Given the description of an element on the screen output the (x, y) to click on. 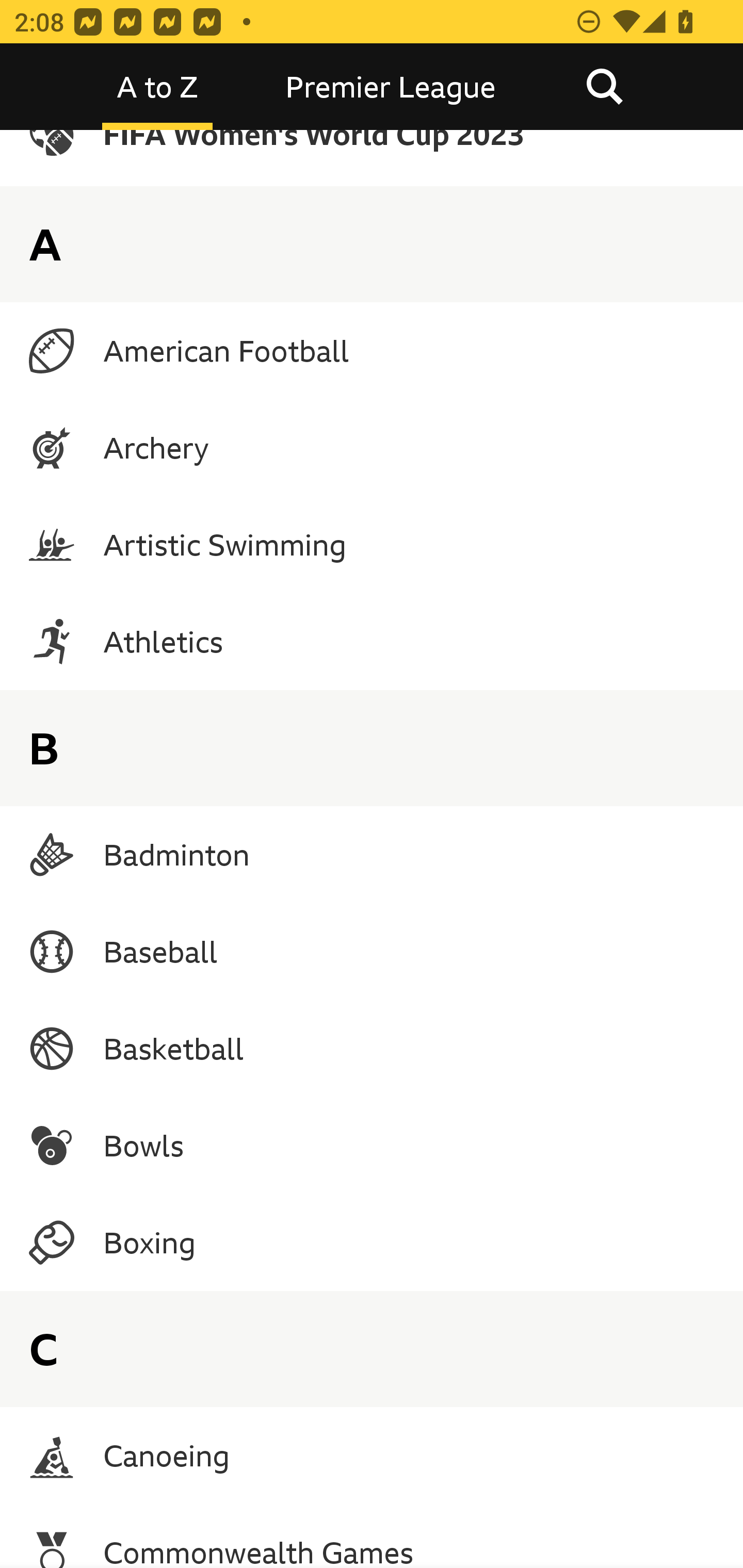
Premier League (390, 86)
Search (604, 86)
American Football (371, 350)
Archery (371, 447)
Artistic Swimming (371, 543)
Athletics (371, 640)
Badminton (371, 854)
Baseball (371, 951)
Basketball (371, 1048)
Bowls (371, 1145)
Boxing (371, 1242)
Canoeing (371, 1454)
Commonwealth Games (371, 1535)
